Given the description of an element on the screen output the (x, y) to click on. 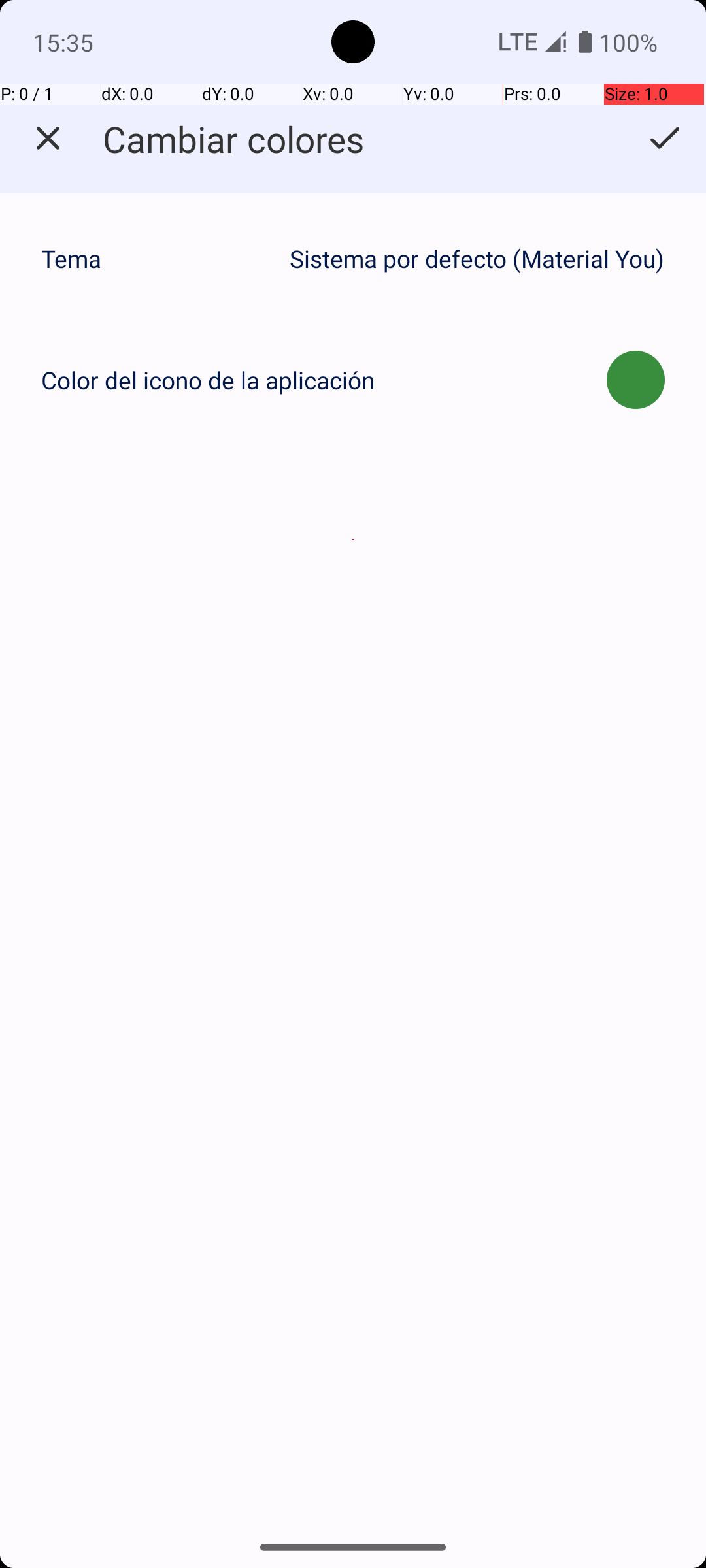
Cerrar Element type: android.widget.ImageButton (48, 138)
Tema Element type: android.widget.TextView (158, 258)
Sistema por defecto (Material You) Element type: android.widget.TextView (476, 258)
Color del icono de la aplicación Element type: android.widget.TextView (207, 379)
